Given the description of an element on the screen output the (x, y) to click on. 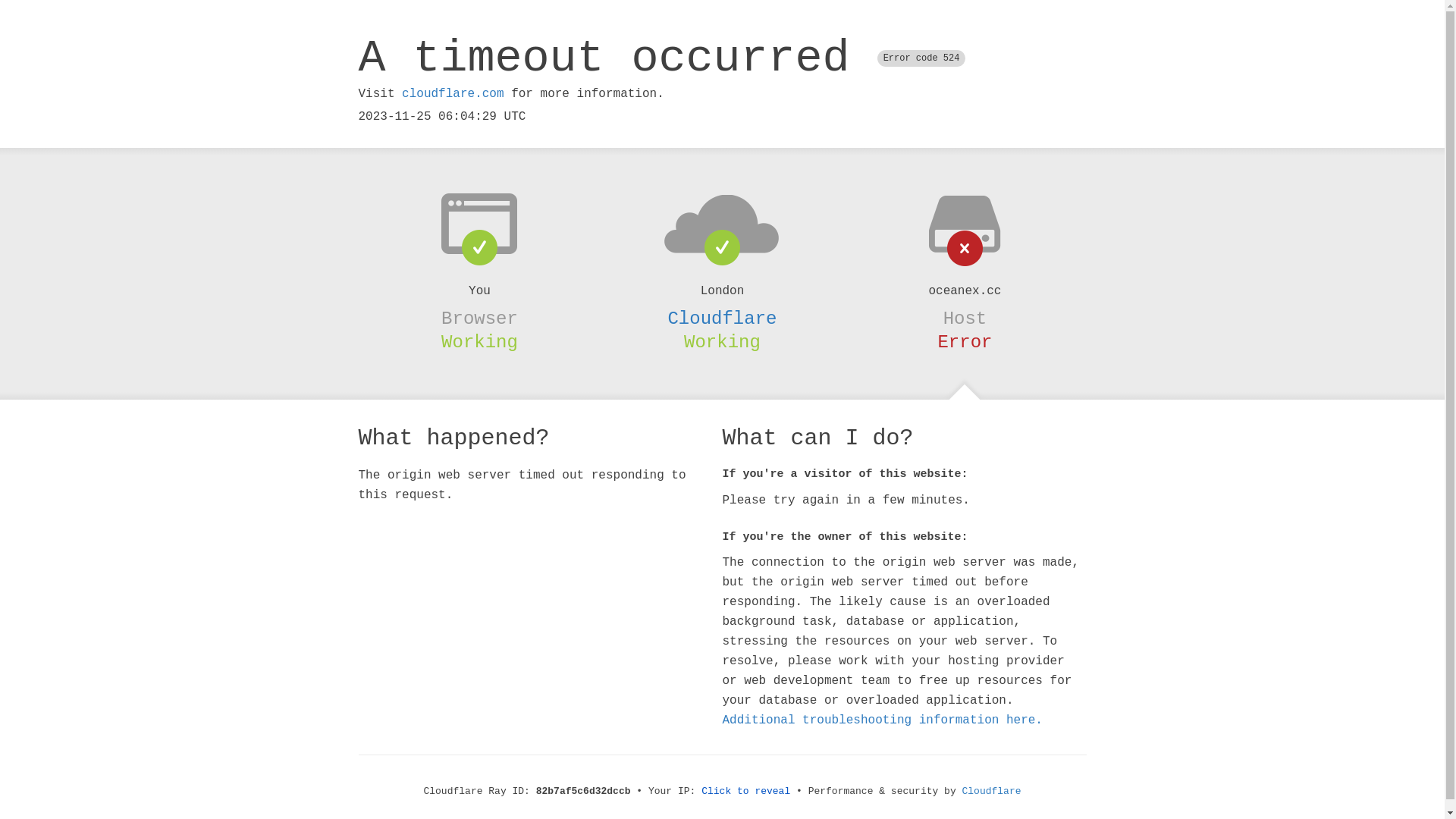
cloudflare.com Element type: text (452, 93)
Additional troubleshooting information here. Element type: text (881, 720)
Cloudflare Element type: text (721, 318)
Click to reveal Element type: text (745, 791)
Cloudflare Element type: text (991, 791)
